Given the description of an element on the screen output the (x, y) to click on. 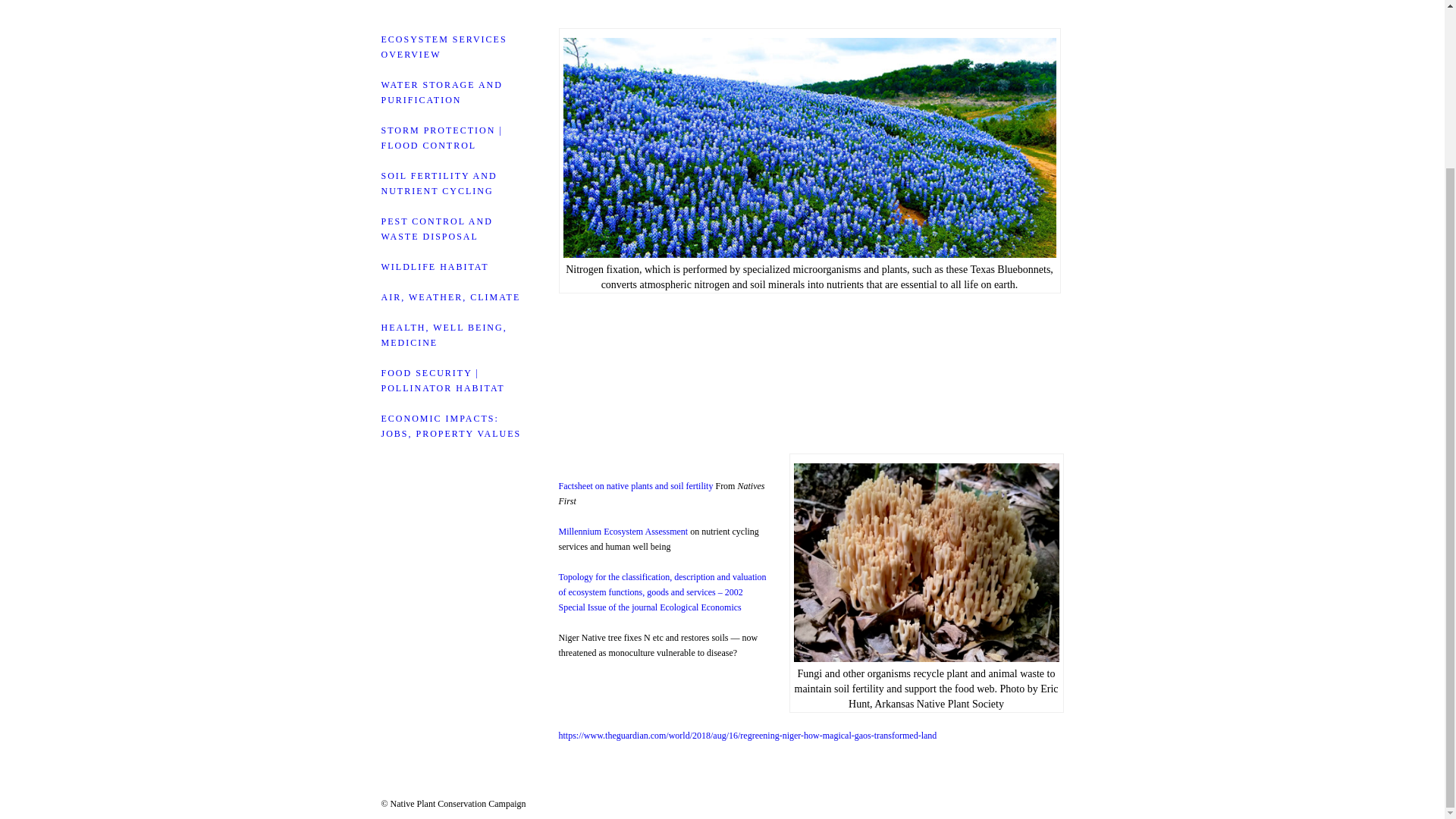
WATER STORAGE AND PURIFICATION (441, 92)
PEST CONTROL AND WASTE DISPOSAL (436, 228)
ECOSYSTEM SERVICES OVERVIEW (443, 46)
AIR, WEATHER, CLIMATE (449, 296)
SOIL FERTILITY AND NUTRIENT CYCLING (438, 183)
Millennium Ecosystem Assessment (622, 531)
HEALTH, WELL BEING, MEDICINE (443, 335)
ECONOMIC IMPACTS: JOBS, PROPERTY VALUES (450, 425)
WILDLIFE HABITAT (433, 266)
Factsheet on native plants and soil fertility (635, 485)
